Given the description of an element on the screen output the (x, y) to click on. 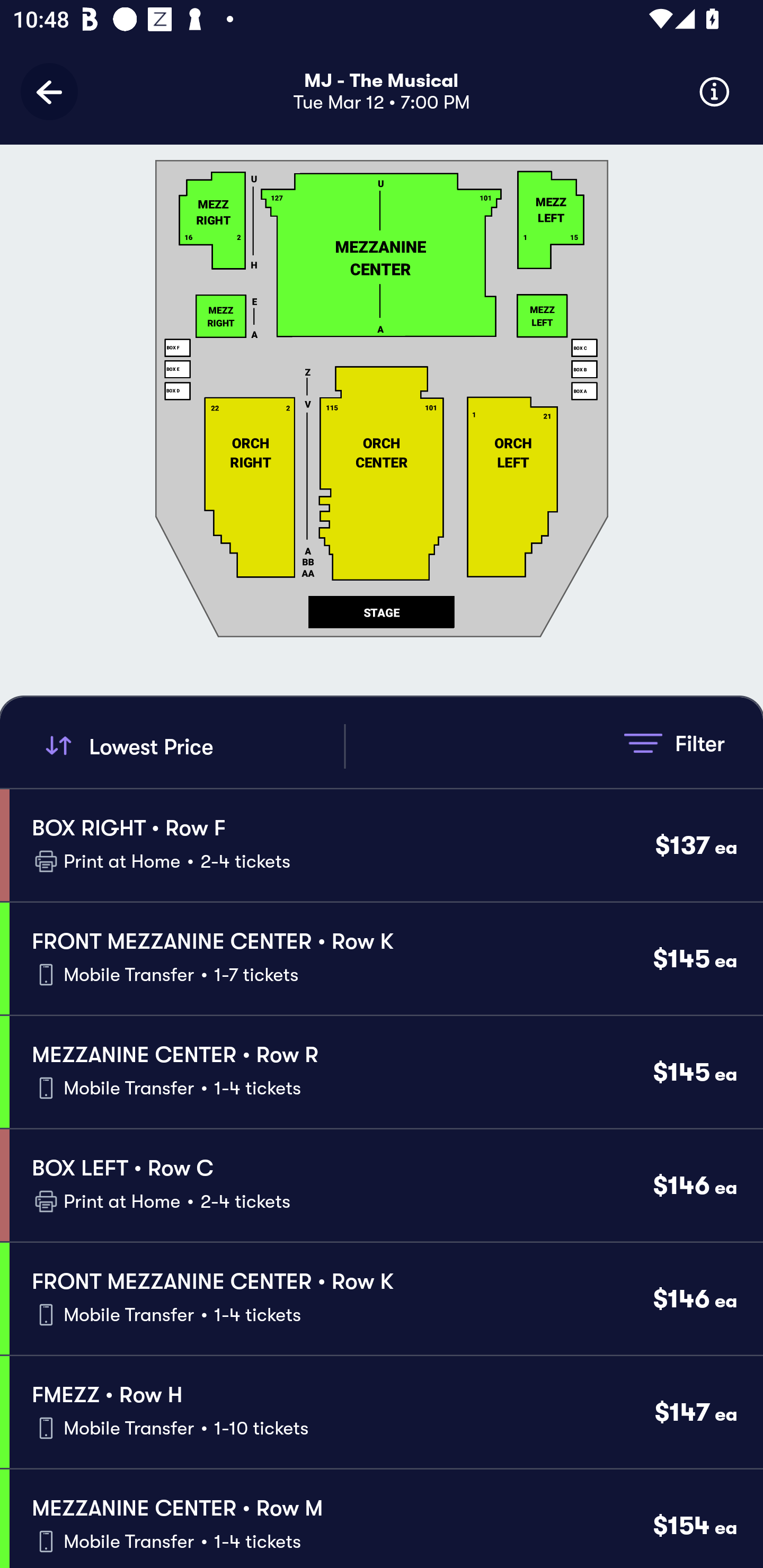
Lowest Price (191, 746)
Filter (674, 743)
